Given the description of an element on the screen output the (x, y) to click on. 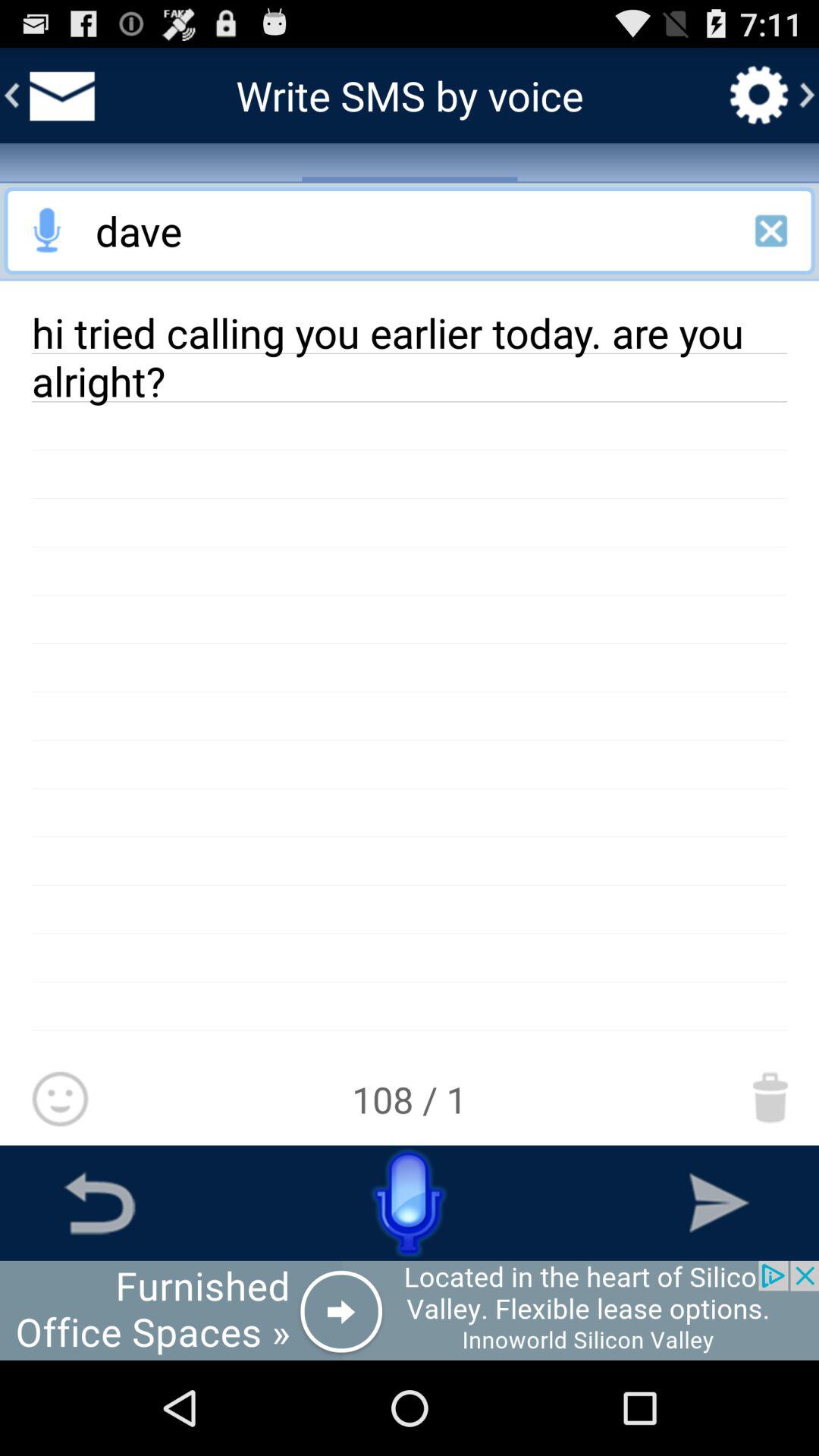
go to dustbin (770, 1097)
